Given the description of an element on the screen output the (x, y) to click on. 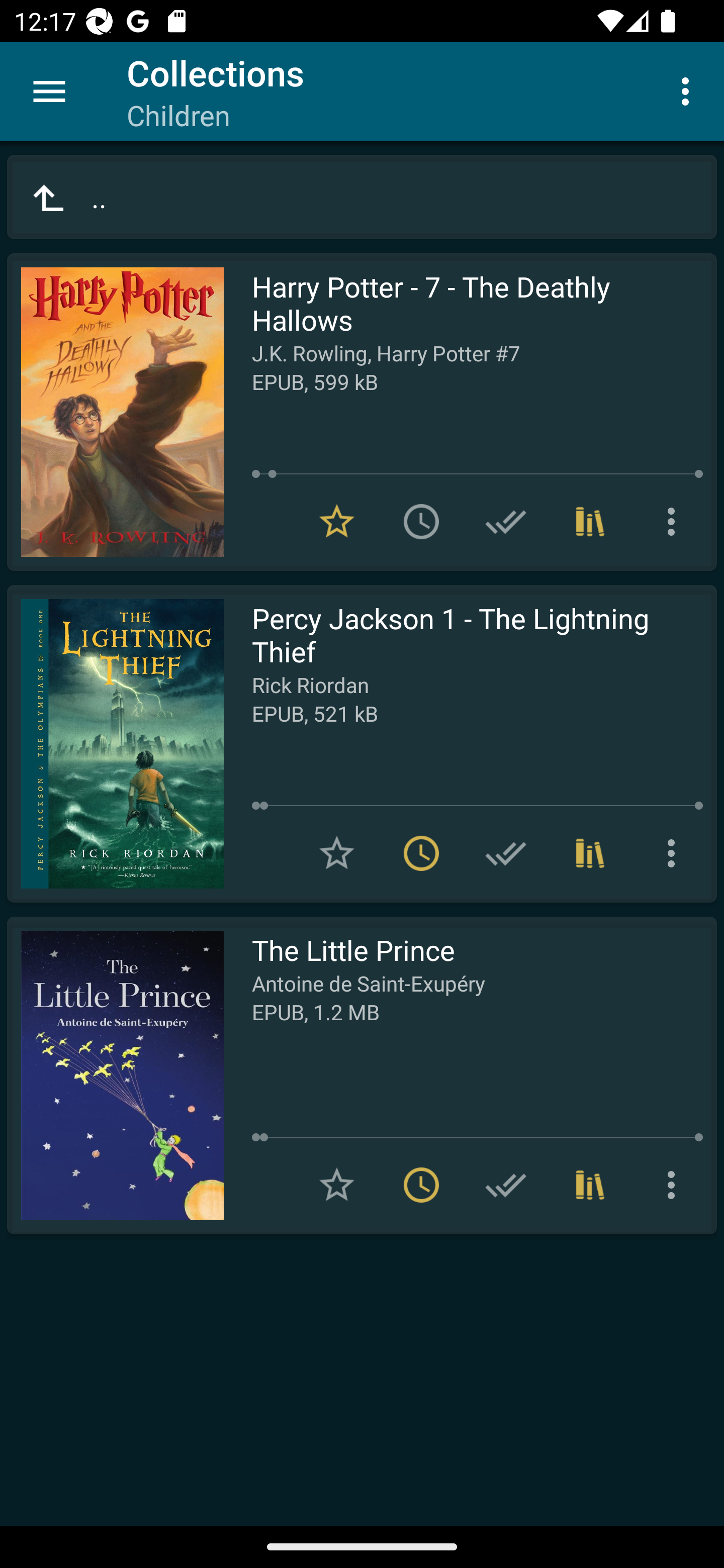
Menu (49, 91)
More options (688, 90)
.. (361, 197)
Read Harry Potter - 7 - The Deathly Hallows (115, 412)
Remove from Favorites (336, 521)
Add to To read (421, 521)
Add to Have read (505, 521)
Collections (1) (590, 521)
More options (674, 521)
Read Percy Jackson 1 - The Lightning Thief (115, 743)
Add to Favorites (336, 852)
Remove from To read (421, 852)
Add to Have read (505, 852)
Collections (1) (590, 852)
More options (674, 852)
Read The Little Prince (115, 1075)
Add to Favorites (336, 1185)
Remove from To read (421, 1185)
Add to Have read (505, 1185)
Collections (1) (590, 1185)
More options (674, 1185)
